Given the description of an element on the screen output the (x, y) to click on. 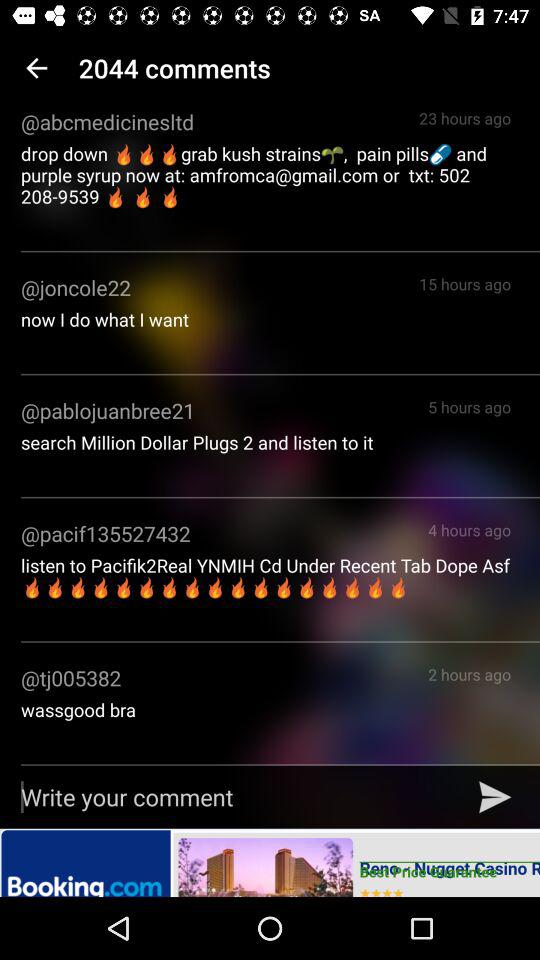
select the text joncole22 (76, 287)
